Given the description of an element on the screen output the (x, y) to click on. 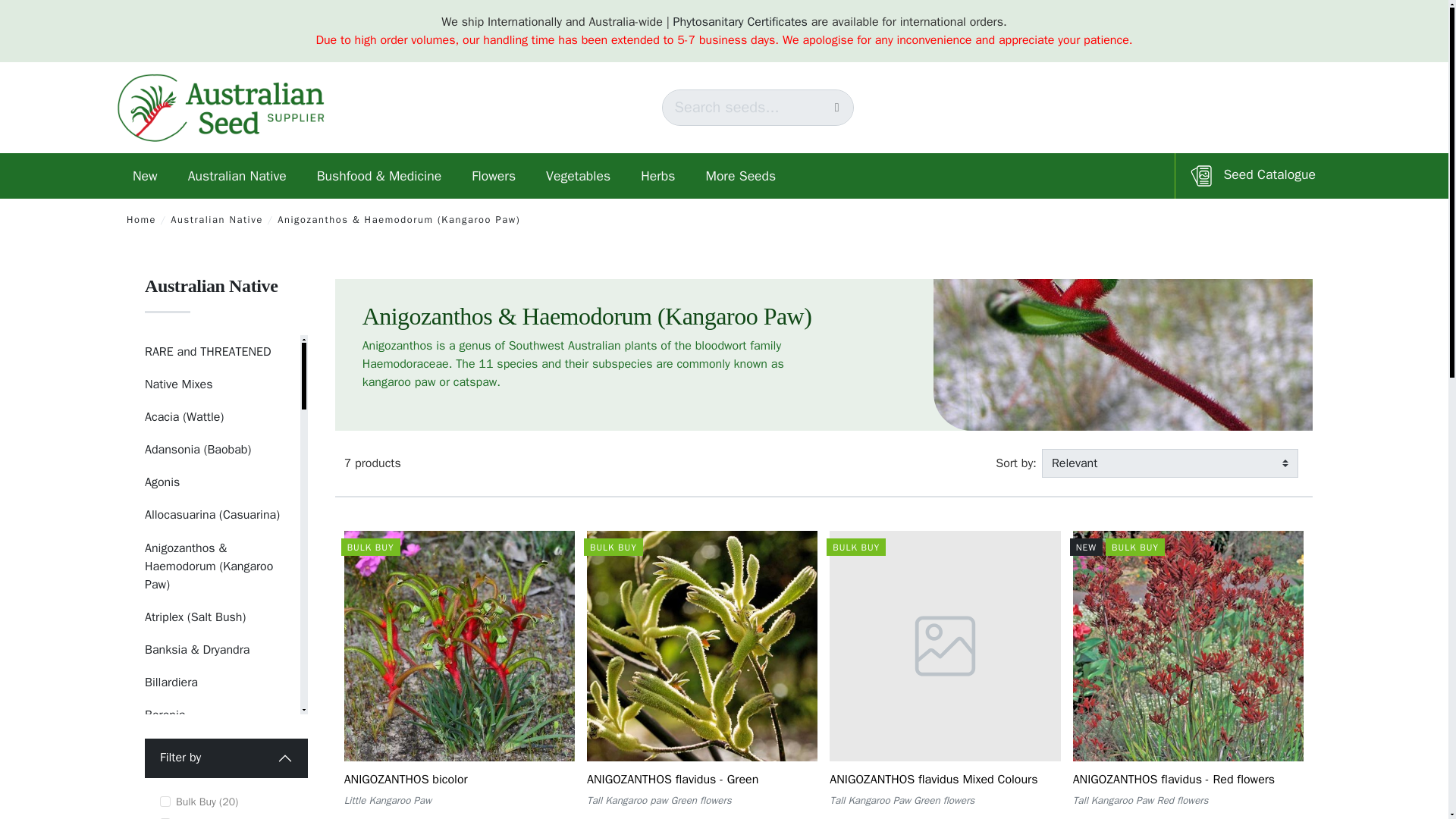
ANIGOZANTHOS bicolor (405, 779)
ANIGOZANTHOS flavidus - Green (672, 779)
ANIGOZANTHOS flavidus Mixed Colours (932, 779)
on (165, 801)
ANIGOZANTHOS flavidus - Red flowers (1174, 779)
